Given the description of an element on the screen output the (x, y) to click on. 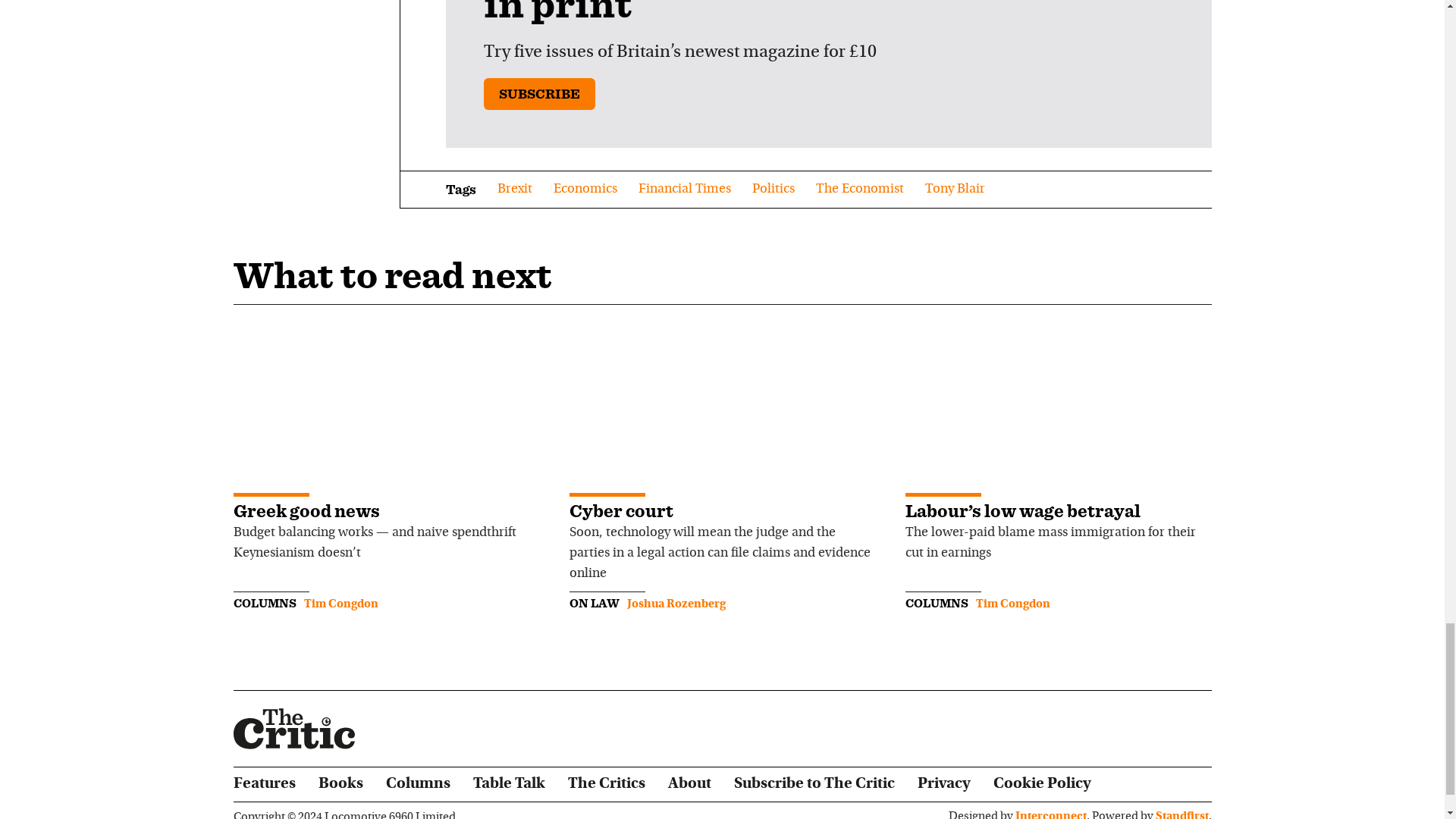
The Economist (859, 189)
COLUMNS (264, 603)
Greek good news (306, 510)
Tony Blair (954, 189)
SUBSCRIBE (539, 93)
Brexit (514, 189)
Posts by Tim Congdon (1012, 604)
Financial Times (684, 189)
Posts by Joshua Rozenberg (676, 604)
Politics (773, 189)
